Given the description of an element on the screen output the (x, y) to click on. 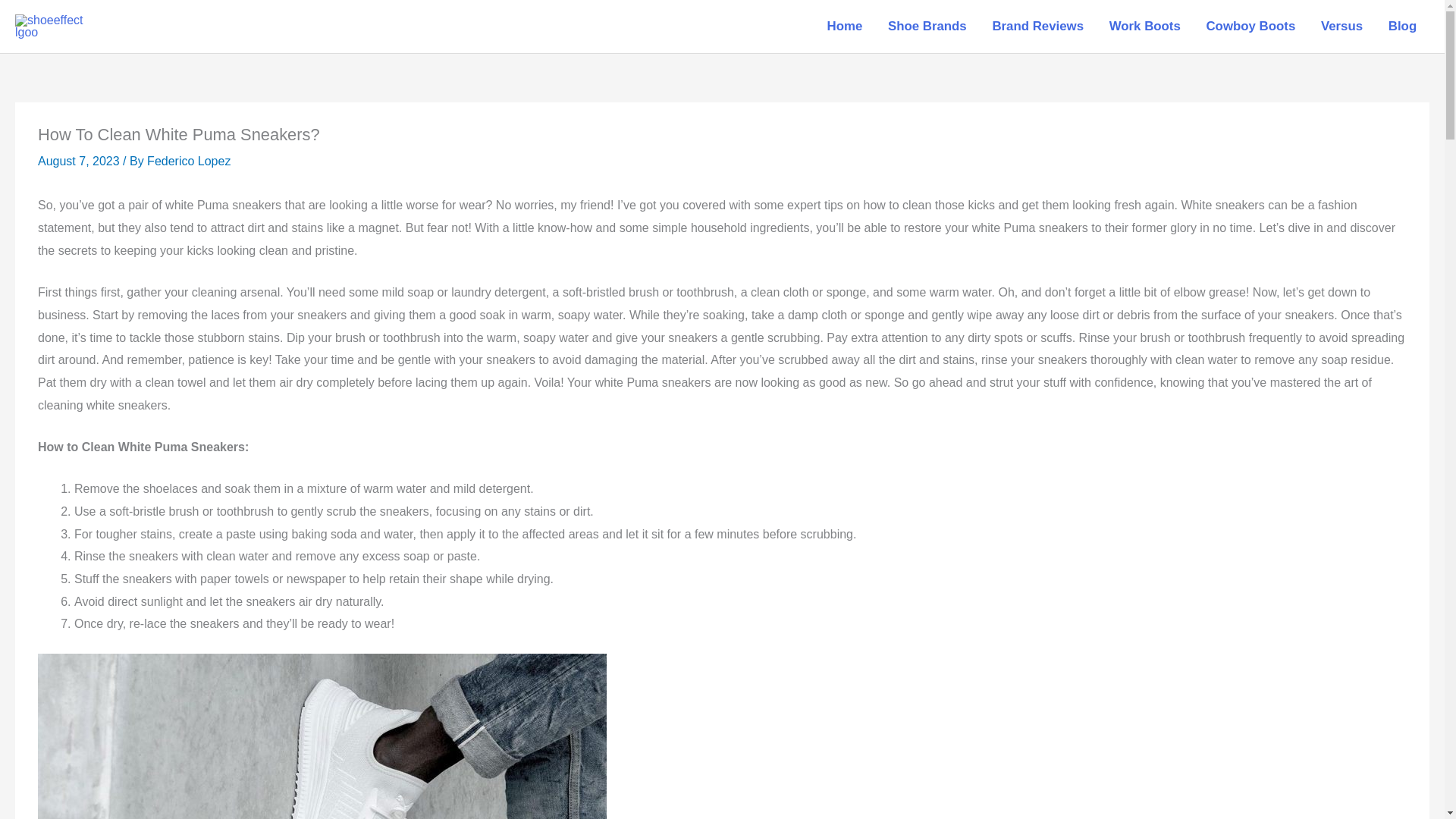
Brand Reviews (1037, 26)
View all posts by Federico Lopez (188, 160)
Blog (1402, 26)
Work Boots (1144, 26)
Home (844, 26)
Cowboy Boots (1250, 26)
Versus (1341, 26)
Shoe Brands (926, 26)
Federico Lopez (188, 160)
